Given the description of an element on the screen output the (x, y) to click on. 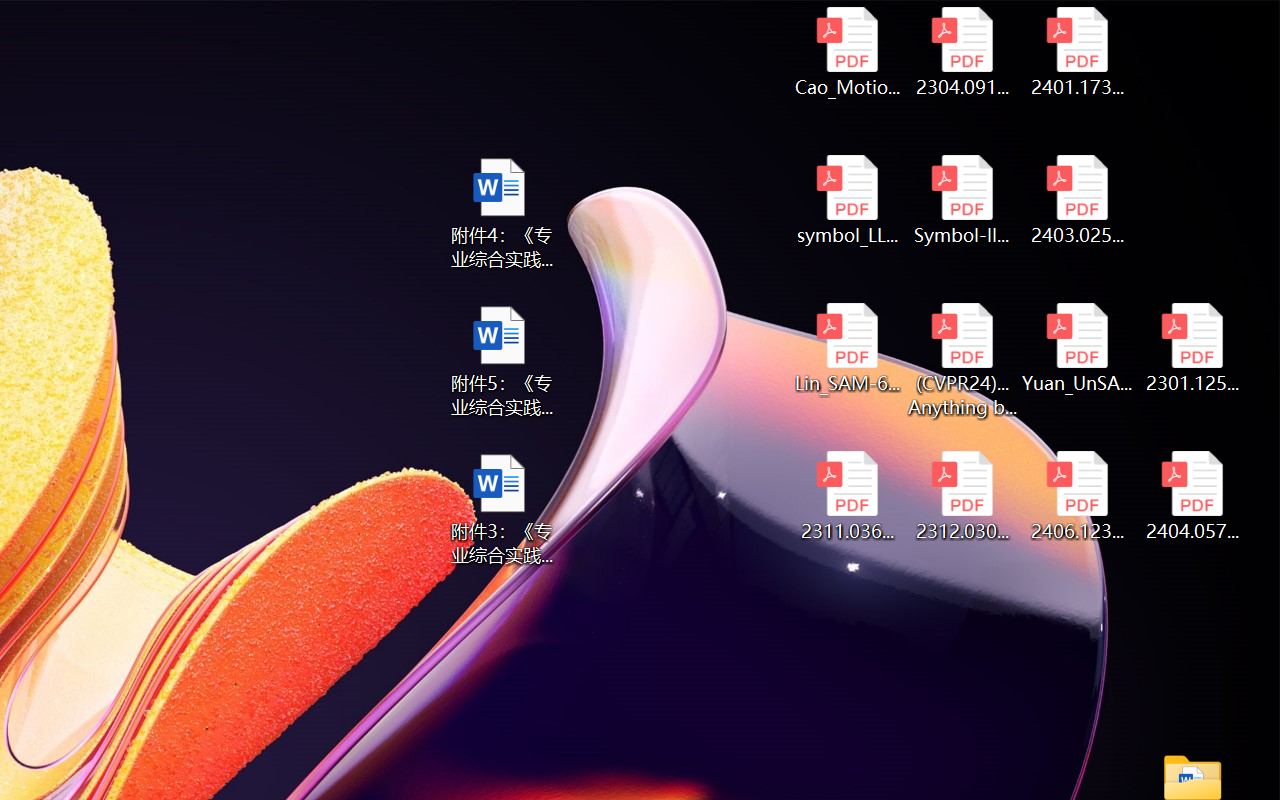
Symbol-llm-v2.pdf (962, 200)
2301.12597v3.pdf (1192, 348)
